Given the description of an element on the screen output the (x, y) to click on. 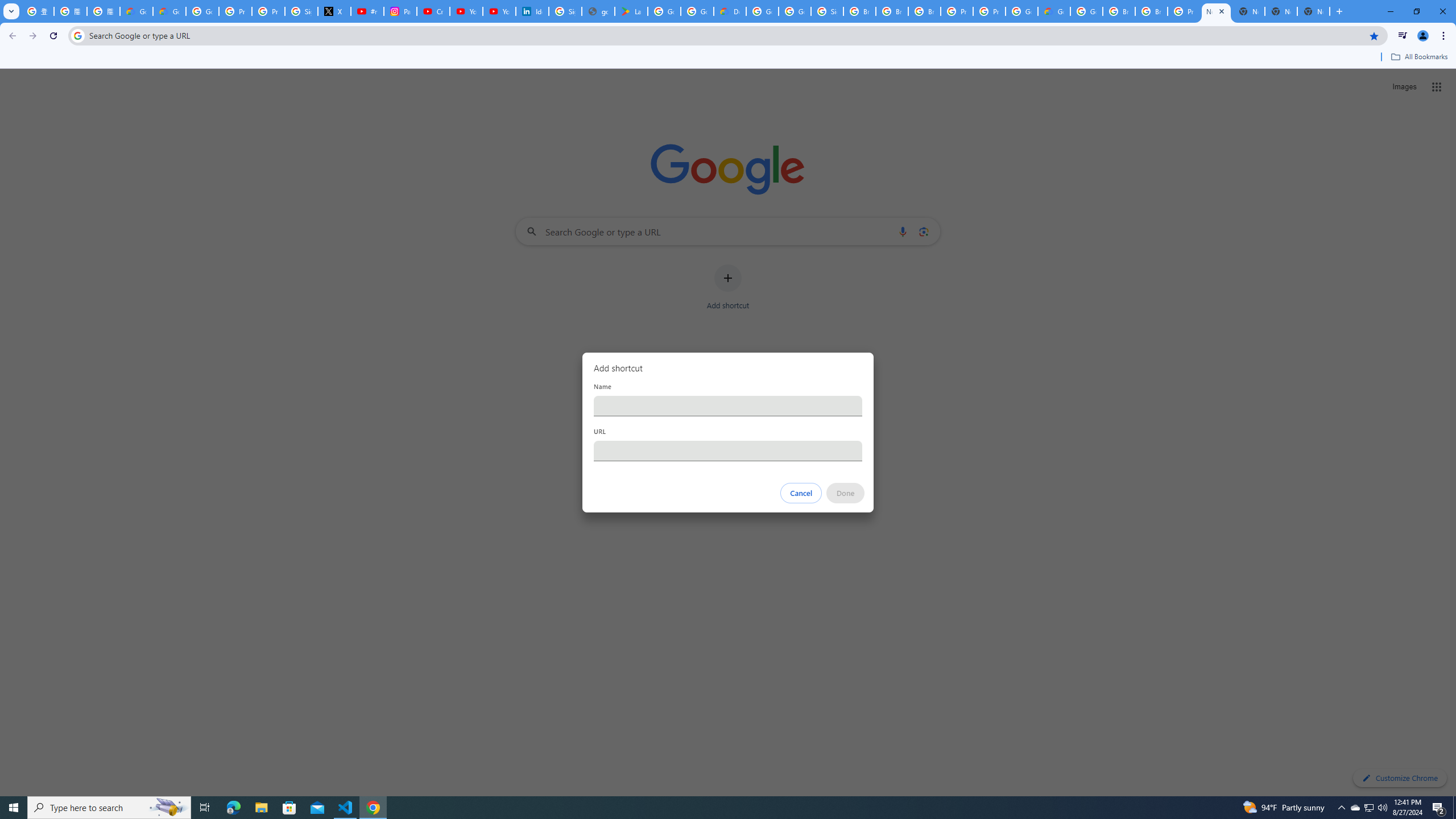
Google Cloud Estimate Summary (1053, 11)
YouTube Culture & Trends - YouTube Top 10, 2021 (499, 11)
Google Workspace - Specific Terms (697, 11)
Cancel (801, 493)
New Tab (1313, 11)
Browse Chrome as a guest - Computer - Google Chrome Help (891, 11)
Last Shelter: Survival - Apps on Google Play (631, 11)
